Given the description of an element on the screen output the (x, y) to click on. 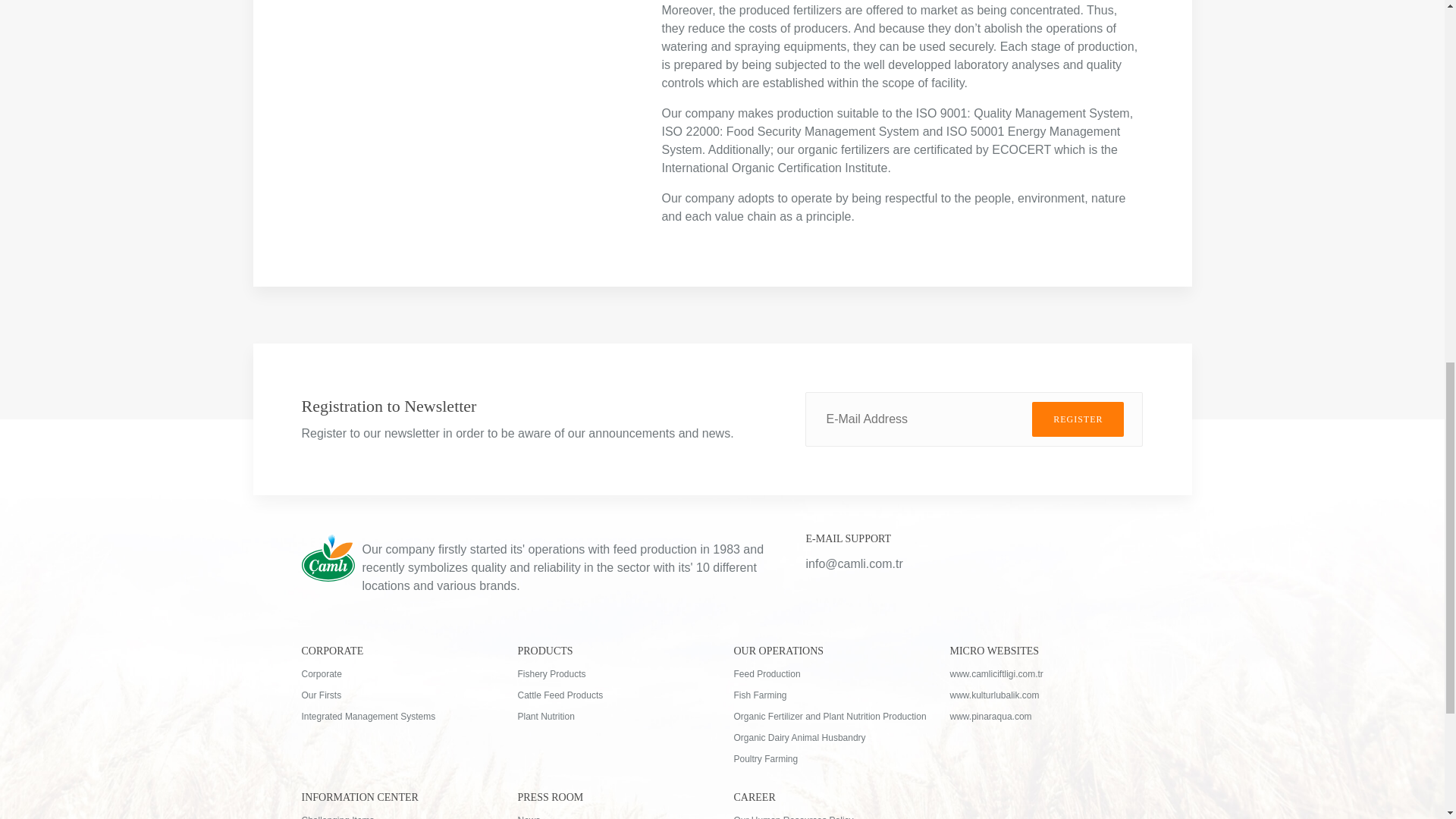
Plant Nutrition (613, 716)
www.camliciftligi.com.tr (1045, 673)
Cattle Feed Products (613, 694)
Fish Farming (830, 694)
Poultry Farming (830, 758)
Corporate (398, 673)
Organic Dairy Animal Husbandry (830, 737)
REGISTER (1078, 419)
Feed Production (830, 673)
Our Firsts (398, 694)
Fishery Products (613, 673)
Organic Fertilizer and Plant Nutrition Production (830, 716)
Integrated Management Systems (398, 716)
